Given the description of an element on the screen output the (x, y) to click on. 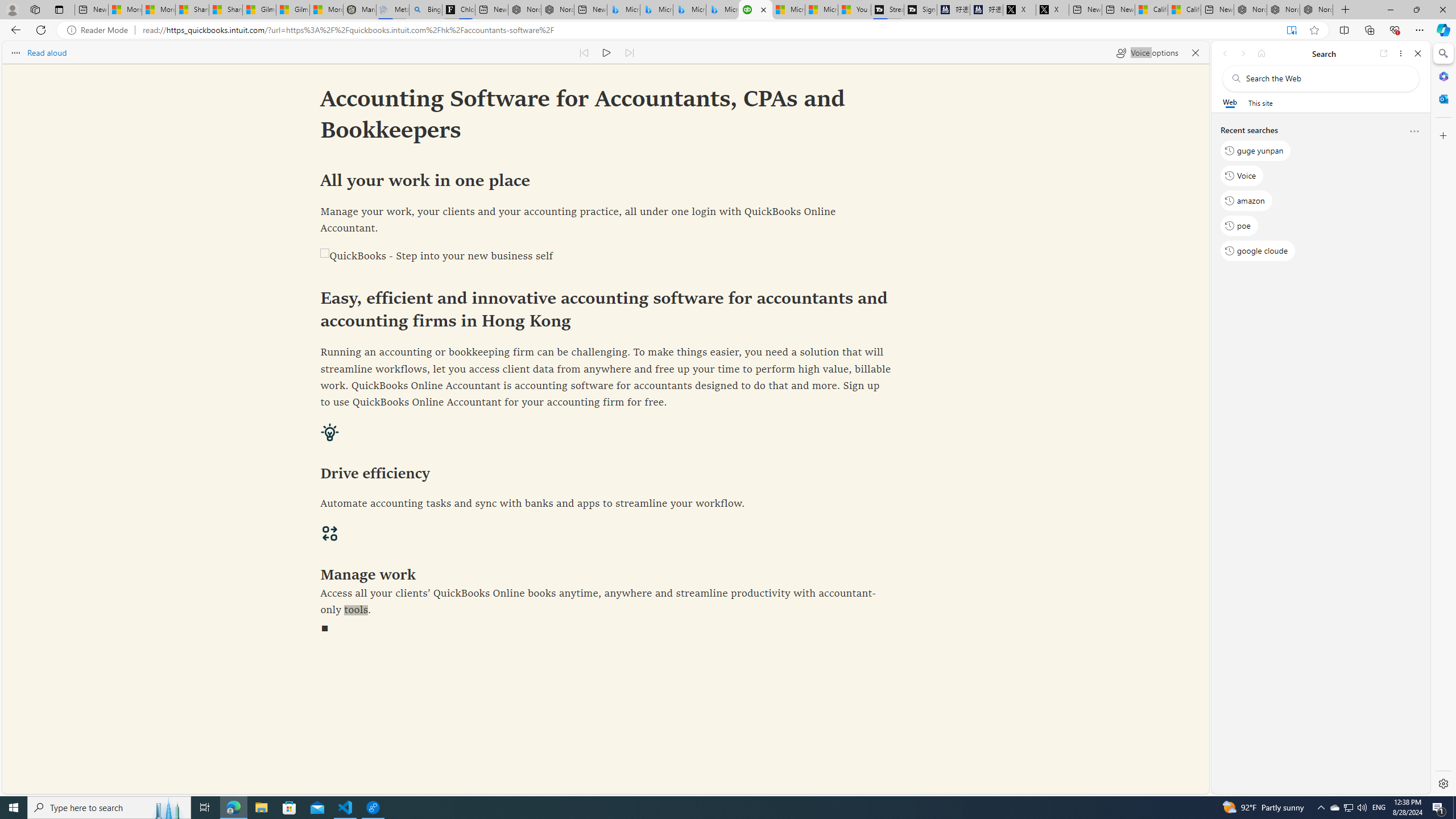
Reader Mode (100, 29)
Customize (1442, 135)
poe (1238, 225)
Nordace - Best Sellers (1249, 9)
guge yunpan (1255, 150)
Bing Real Estate - Home sales and rental listings (425, 9)
Microsoft Bing Travel - Shangri-La Hotel Bangkok (722, 9)
amazon (1246, 200)
